Given the description of an element on the screen output the (x, y) to click on. 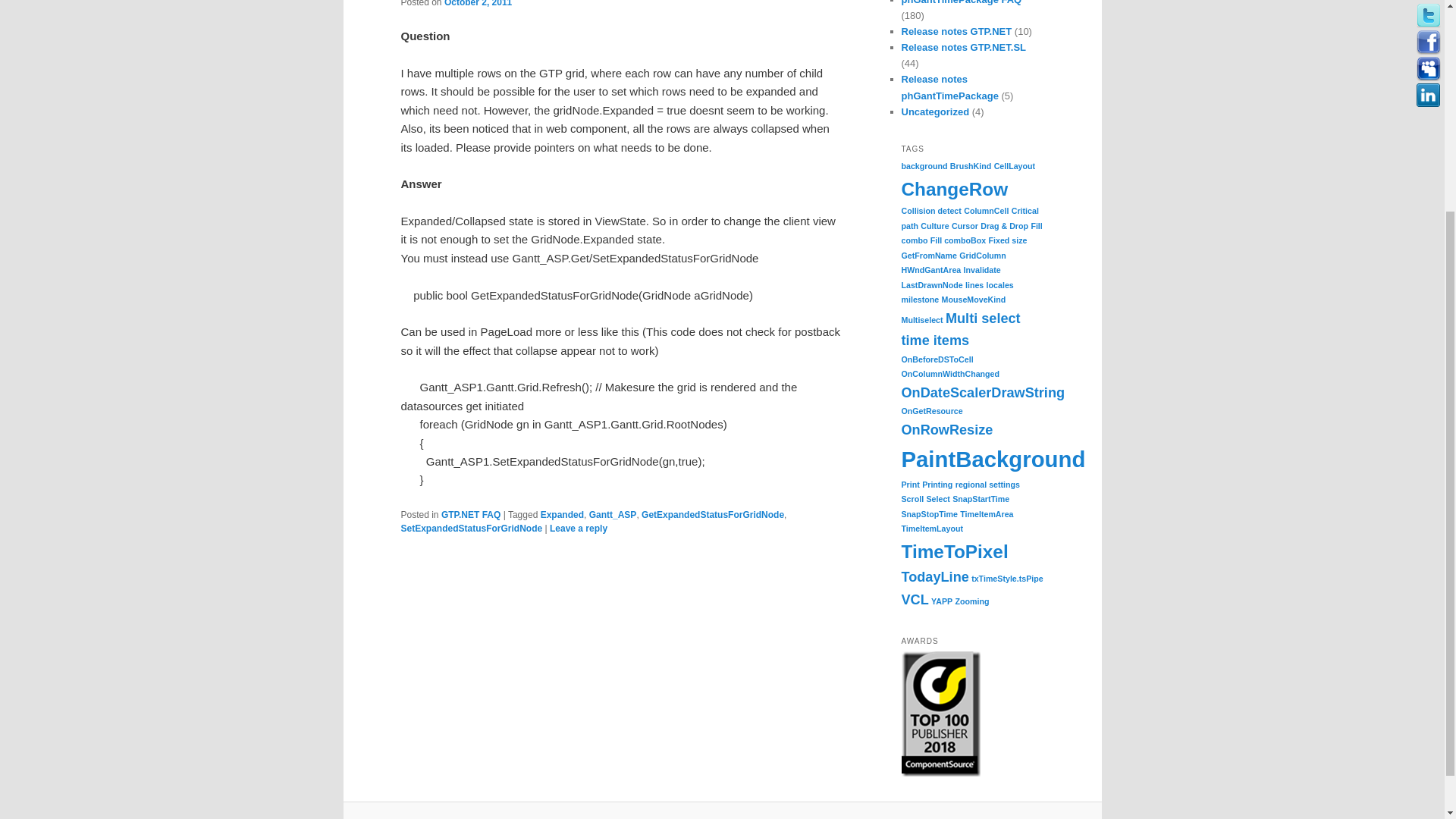
SetExpandedStatusForGridNode (470, 528)
BrushKind (970, 165)
Uncategorized (935, 111)
Release notes GTP.NET (956, 30)
GTP.NET FAQ (470, 514)
phGantTimePackage FAQ (961, 2)
Release notes GTP.NET.SL (963, 47)
background (924, 165)
Release notes phGantTimePackage (949, 86)
Expanded (561, 514)
October 2, 2011 (478, 3)
Leave a reply (578, 528)
GetExpandedStatusForGridNode (713, 514)
02:05 (478, 3)
